Given the description of an element on the screen output the (x, y) to click on. 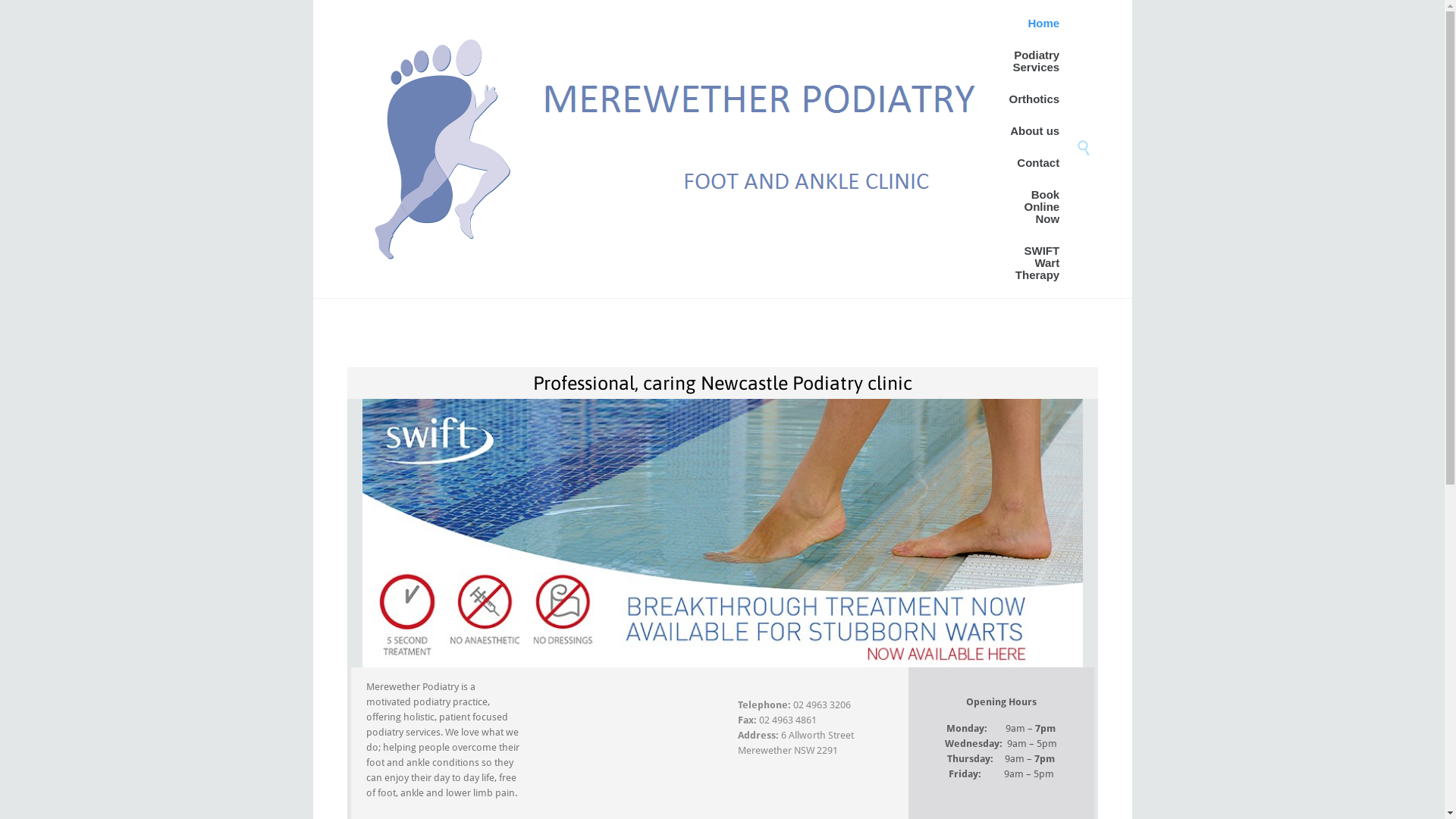
About us Element type: text (1034, 131)
Merewether Podiatry Element type: hover (679, 149)
SWIFT Wart Therapy Element type: text (1034, 263)
Orthotics Element type: text (1034, 99)
Contact Element type: text (1038, 163)
Book Online Now Element type: text (1034, 207)
Podiatry Services Element type: text (1034, 61)
Home Element type: text (1043, 23)
Skip to content Element type: text (1071, 6)
